Given the description of an element on the screen output the (x, y) to click on. 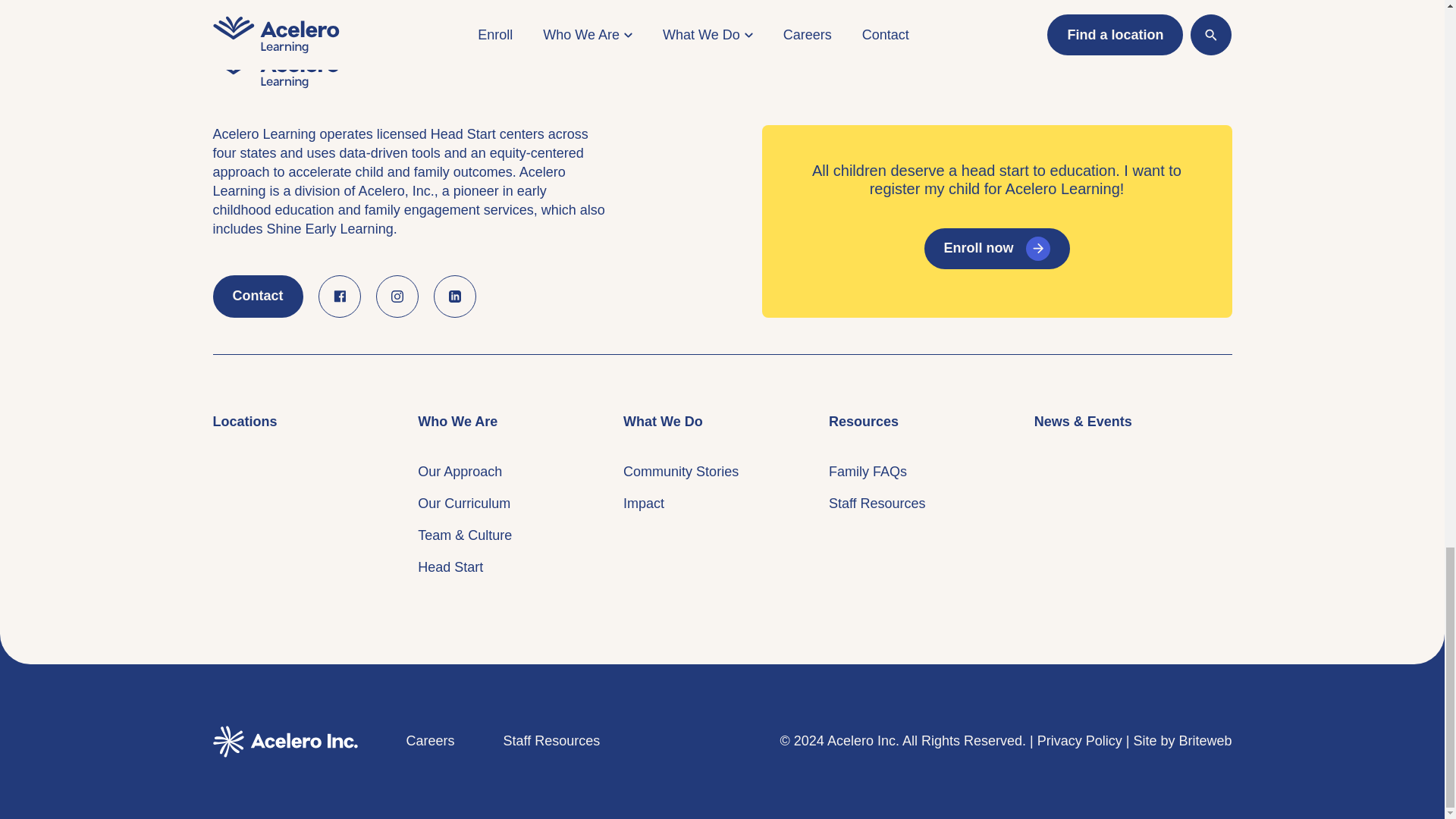
Enroll now (995, 248)
Staff Resources (877, 503)
Staff Resources (551, 66)
Community Stories (680, 471)
Who We Are (457, 421)
Impact (643, 503)
Locations (244, 421)
Impact (643, 503)
Locations (244, 421)
Our Curriculum (464, 503)
Site by Briteweb (1181, 66)
Our Approach (459, 471)
Community Stories (680, 471)
Contact (257, 296)
Who We Are (457, 421)
